Given the description of an element on the screen output the (x, y) to click on. 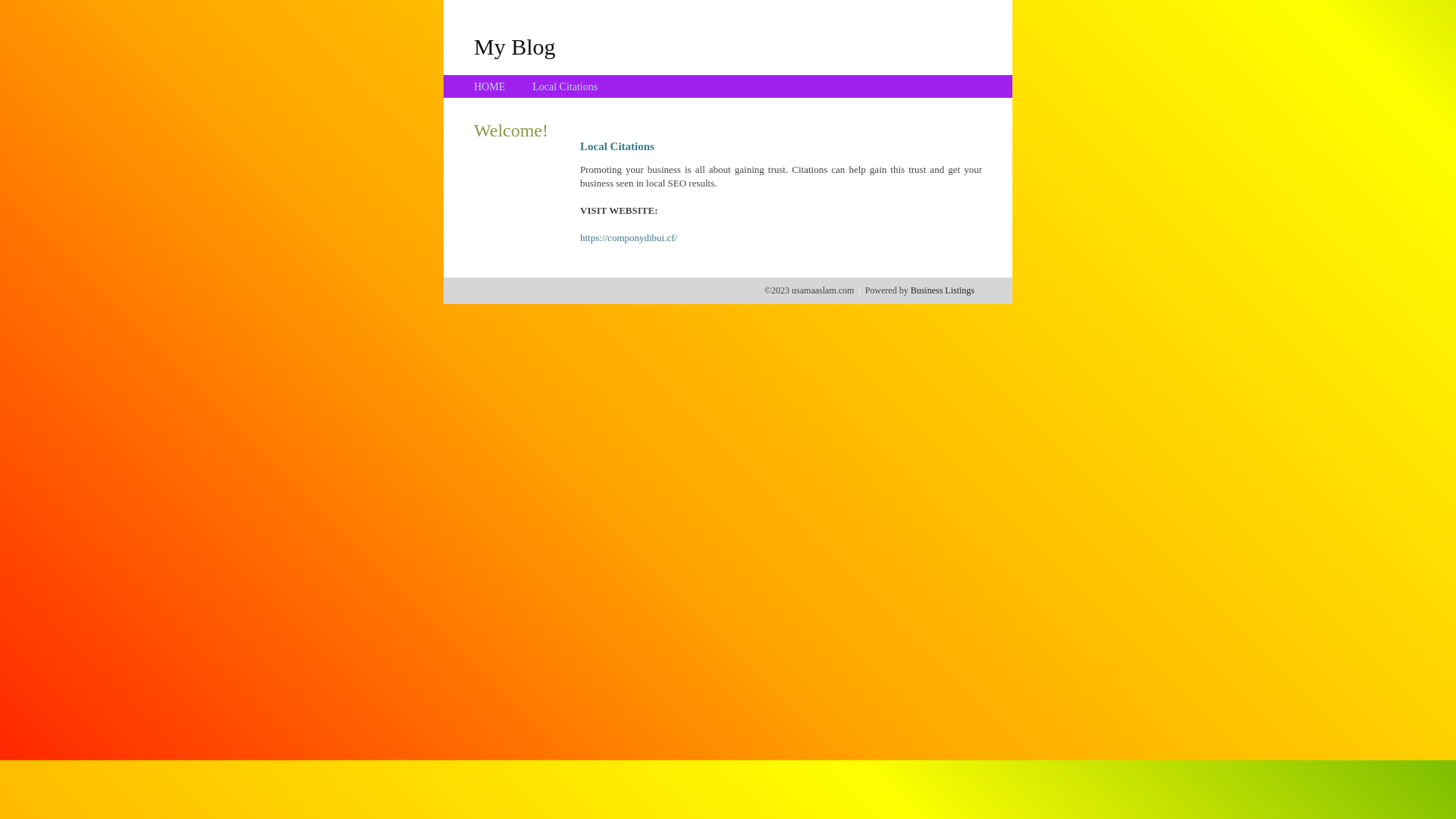
My Blog Element type: text (514, 46)
HOME Element type: text (489, 86)
https://componydibui.cf/ Element type: text (628, 237)
Local Citations Element type: text (564, 86)
Business Listings Element type: text (942, 290)
